Given the description of an element on the screen output the (x, y) to click on. 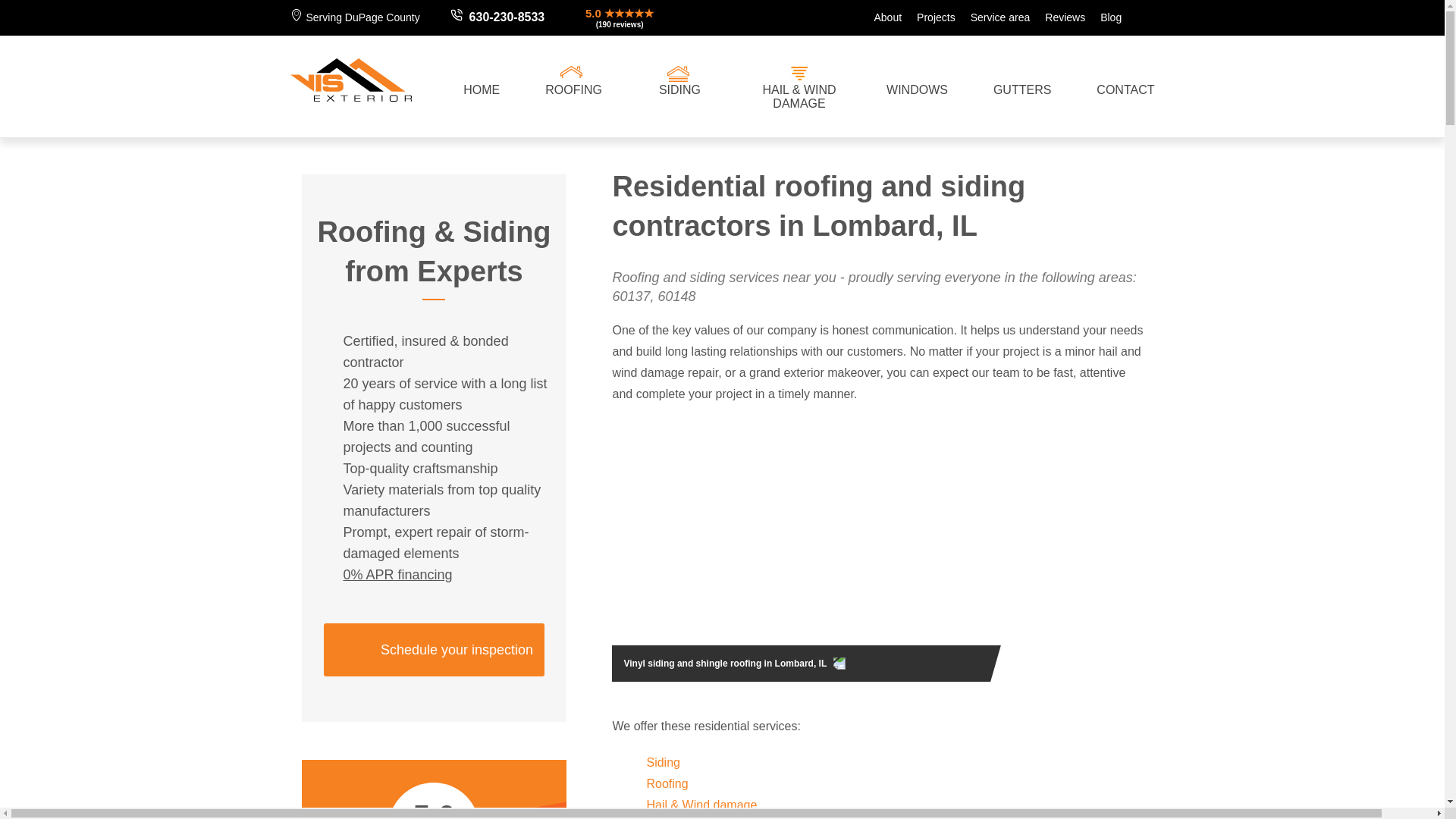
Reviews (1056, 17)
Go (1138, 17)
630-230-8533 (506, 17)
About (880, 17)
Projects (928, 17)
Service area (992, 17)
